Given the description of an element on the screen output the (x, y) to click on. 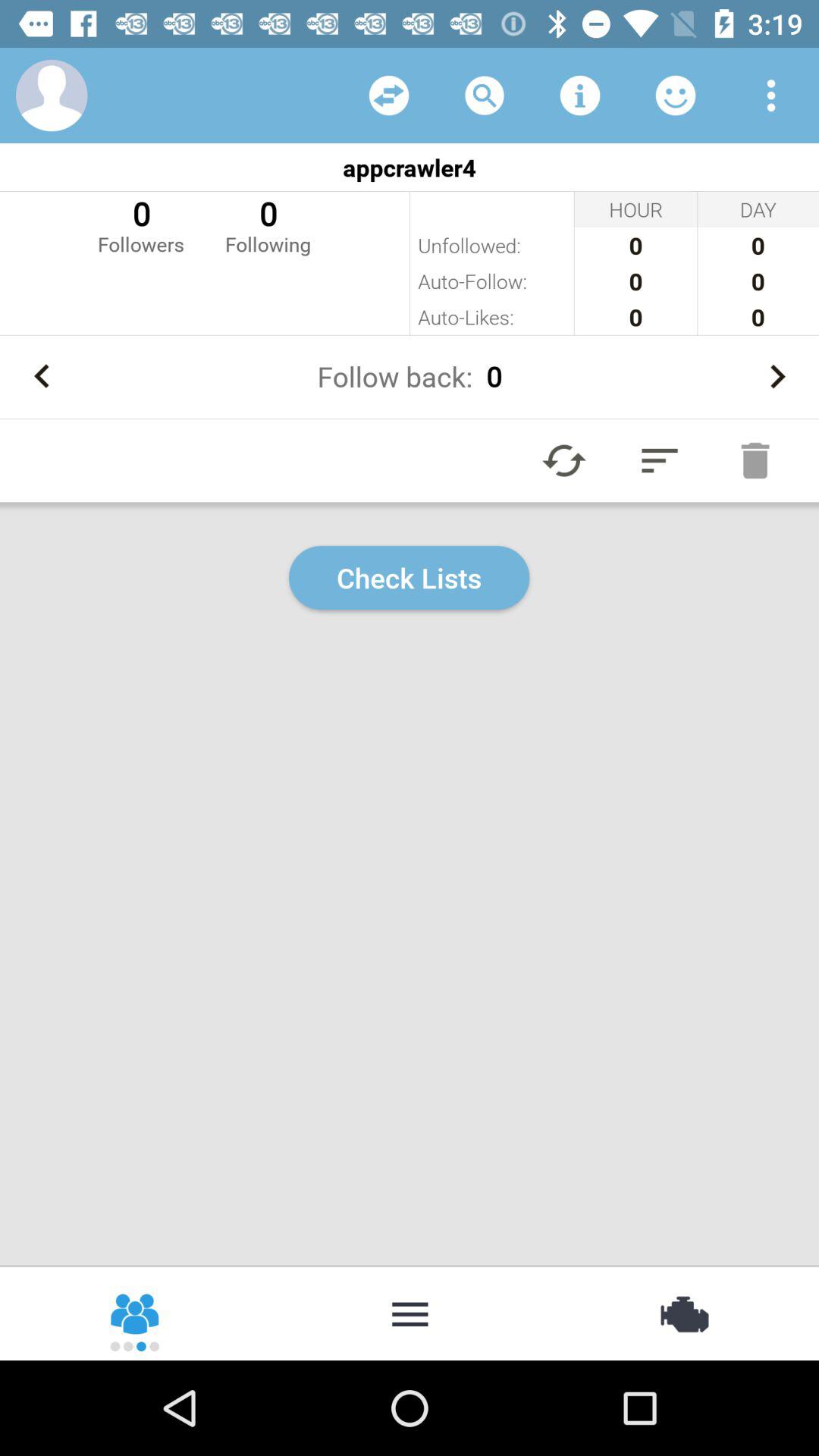
open icon next to the 0
following (140, 224)
